Given the description of an element on the screen output the (x, y) to click on. 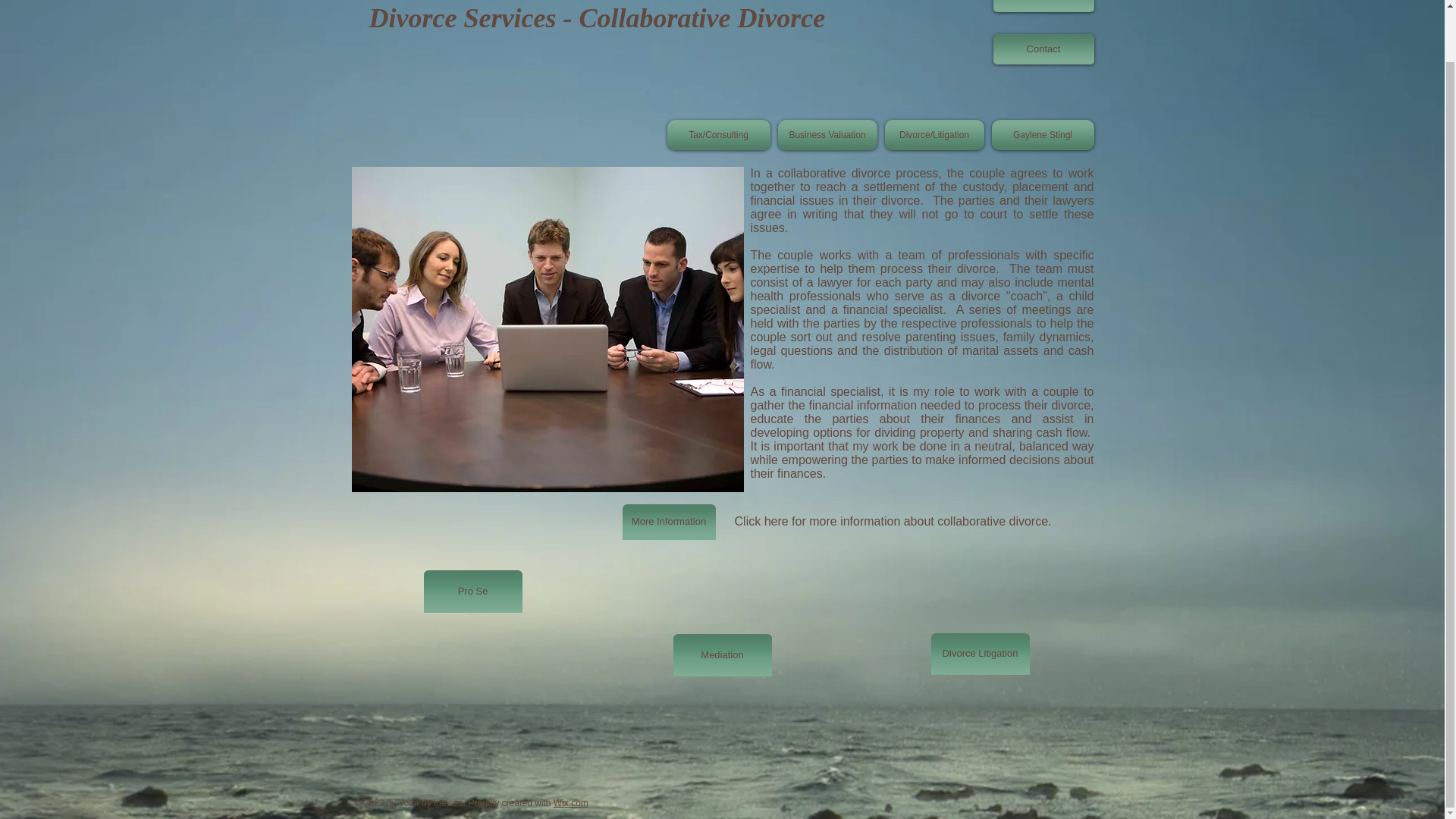
Gaylene Stingl (1040, 134)
Pro Se (472, 591)
More Information (667, 521)
Wix.com (570, 802)
Divorce Litigation (980, 653)
Business Valuation (826, 134)
Contact (1043, 49)
Home (1043, 6)
Mediation (721, 654)
